Given the description of an element on the screen output the (x, y) to click on. 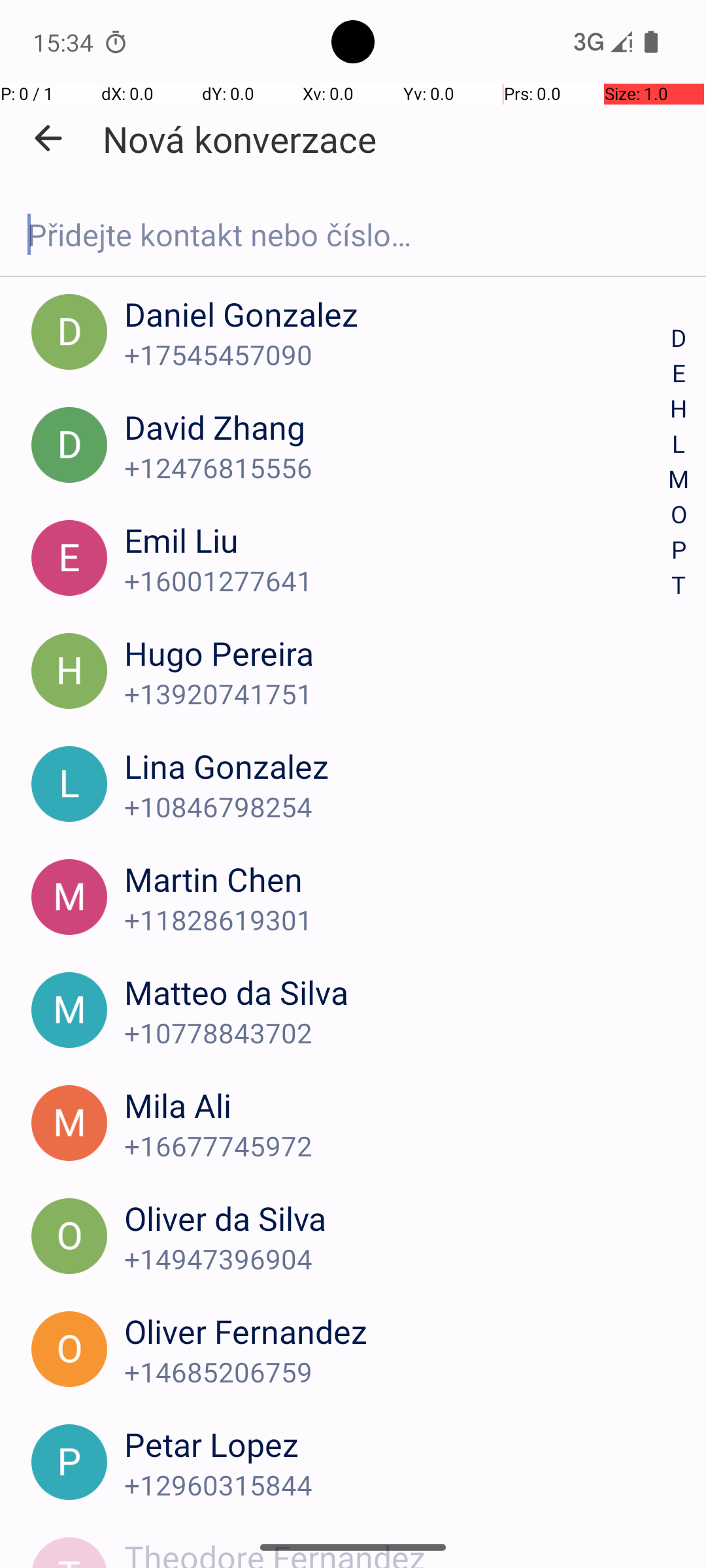
Zpět Element type: android.widget.ImageButton (48, 138)
Nová konverzace Element type: android.widget.TextView (239, 138)
Přidejte kontakt nebo číslo… Element type: android.widget.EditText (352, 234)
D
E
H
L
M
O
P
T Element type: android.widget.TextView (678, 462)
Daniel Gonzalez Element type: android.widget.TextView (397, 313)
+17545457090 Element type: android.widget.TextView (397, 354)
David Zhang Element type: android.widget.TextView (397, 426)
+12476815556 Element type: android.widget.TextView (397, 467)
+16001277641 Element type: android.widget.TextView (397, 580)
+13920741751 Element type: android.widget.TextView (397, 693)
Lina Gonzalez Element type: android.widget.TextView (397, 765)
+10846798254 Element type: android.widget.TextView (397, 806)
Martin Chen Element type: android.widget.TextView (397, 878)
+11828619301 Element type: android.widget.TextView (397, 919)
+10778843702 Element type: android.widget.TextView (397, 1032)
Mila Ali Element type: android.widget.TextView (397, 1104)
+16677745972 Element type: android.widget.TextView (397, 1145)
Oliver da Silva Element type: android.widget.TextView (397, 1217)
+14947396904 Element type: android.widget.TextView (397, 1258)
Oliver Fernandez Element type: android.widget.TextView (397, 1330)
+14685206759 Element type: android.widget.TextView (397, 1371)
Petar Lopez Element type: android.widget.TextView (397, 1443)
+12960315844 Element type: android.widget.TextView (397, 1484)
Theodore Fernandez Element type: android.widget.TextView (397, 1551)
